Given the description of an element on the screen output the (x, y) to click on. 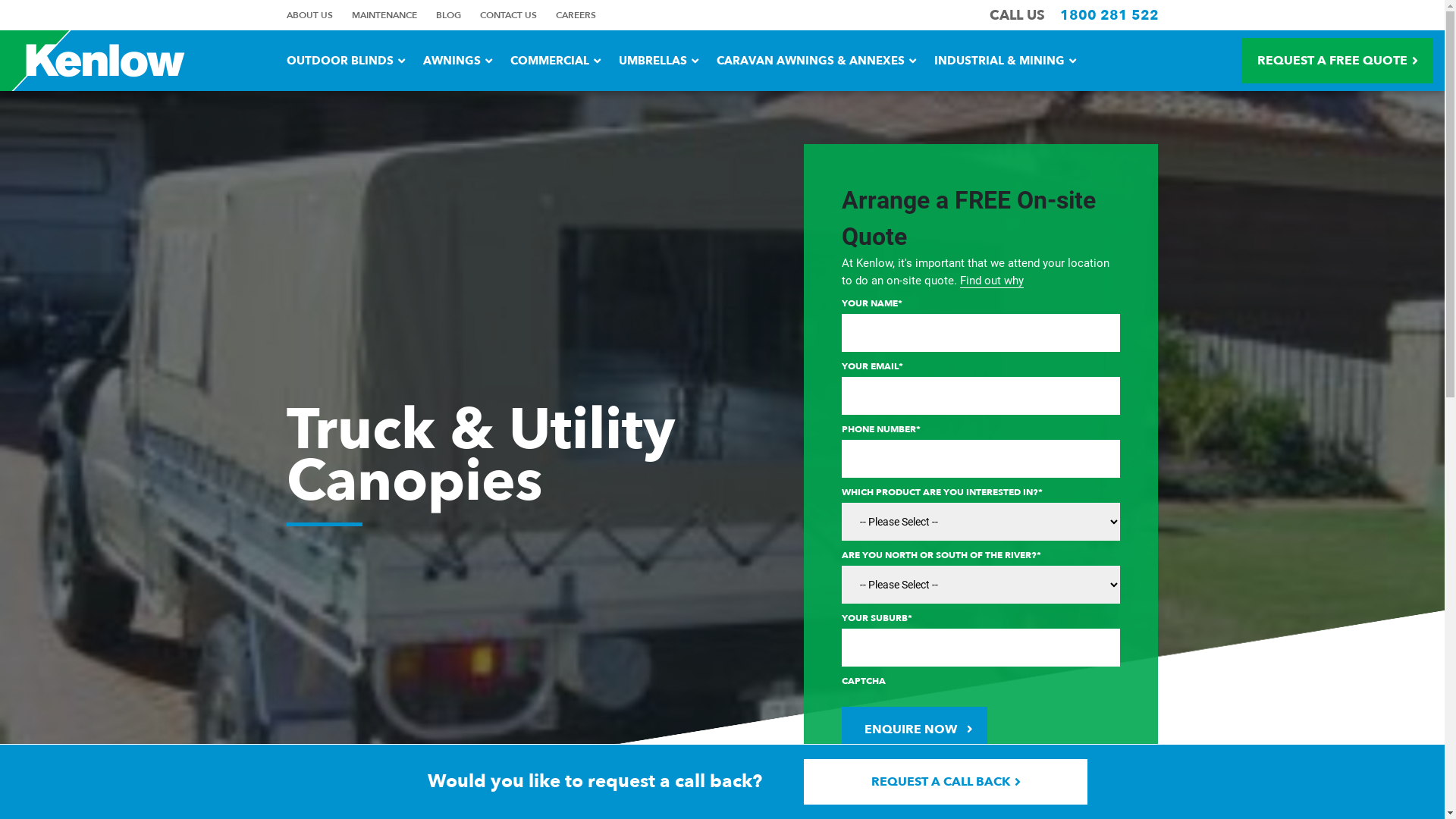
CAREERS Element type: text (575, 14)
OUTDOOR BLINDS Element type: text (345, 59)
INDUSTRIAL & MINING Element type: text (1005, 59)
MAINTENANCE Element type: text (384, 14)
ABOUT US Element type: text (309, 14)
1800 281 522 Element type: text (1109, 14)
CARAVAN AWNINGS & ANNEXES Element type: text (816, 59)
REQUEST A CALL BACK Element type: text (945, 781)
AWNINGS Element type: text (457, 59)
CONTACT US Element type: text (507, 14)
UMBRELLAS Element type: text (658, 59)
REQUEST A FREE QUOTE Element type: text (1337, 60)
BLOG Element type: text (447, 14)
Find out why Element type: text (991, 280)
COMMERCIAL Element type: text (555, 59)
Enquire Now Element type: text (914, 729)
